Given the description of an element on the screen output the (x, y) to click on. 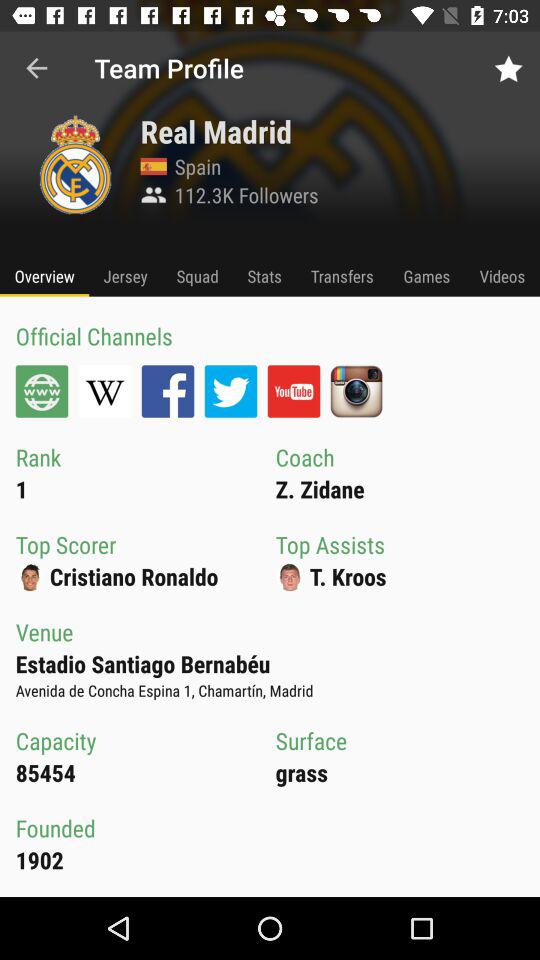
upload your social media channel (356, 391)
